Given the description of an element on the screen output the (x, y) to click on. 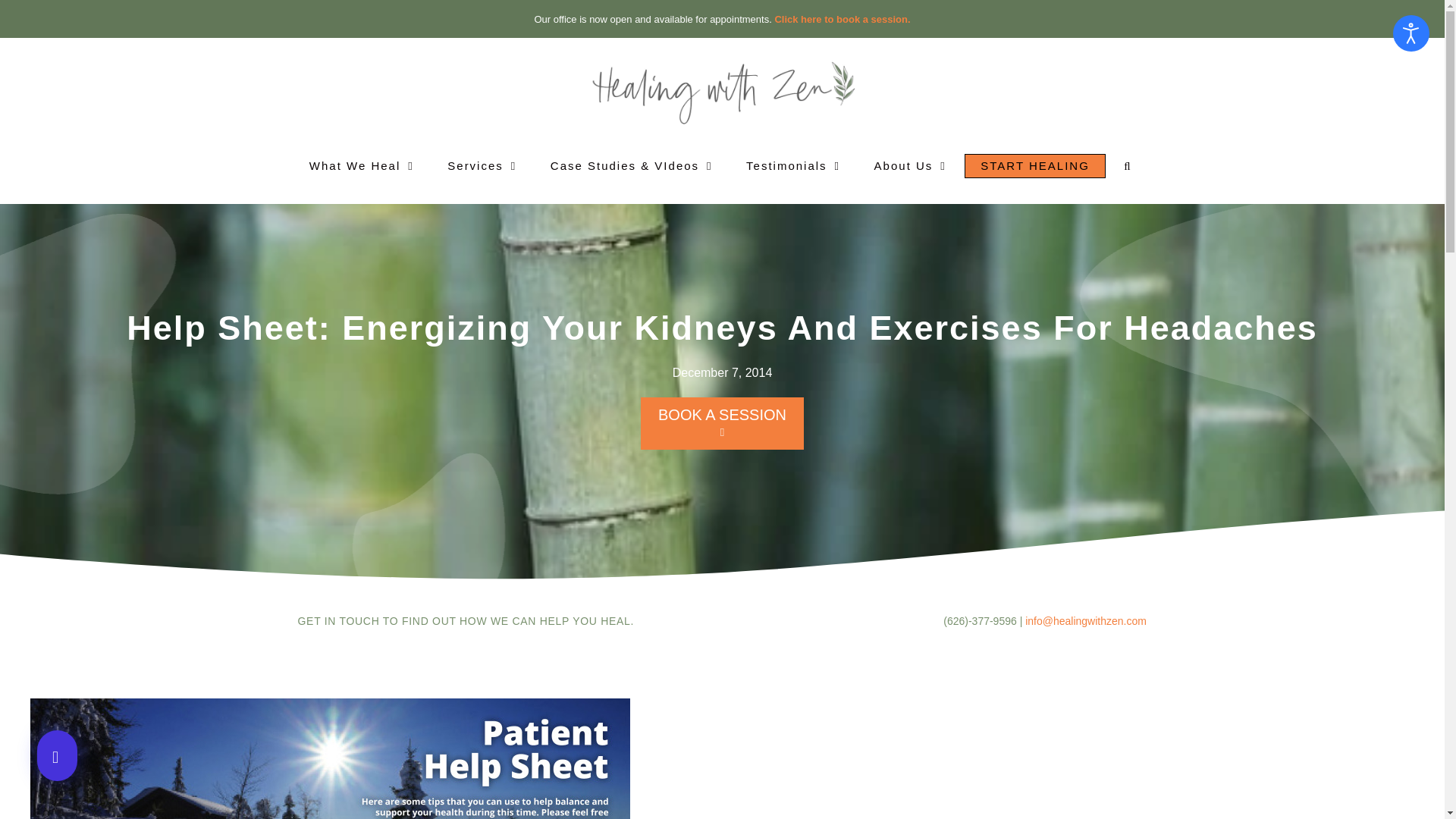
Open accessibility tools (1411, 33)
Click here to book a session. (842, 19)
